Given the description of an element on the screen output the (x, y) to click on. 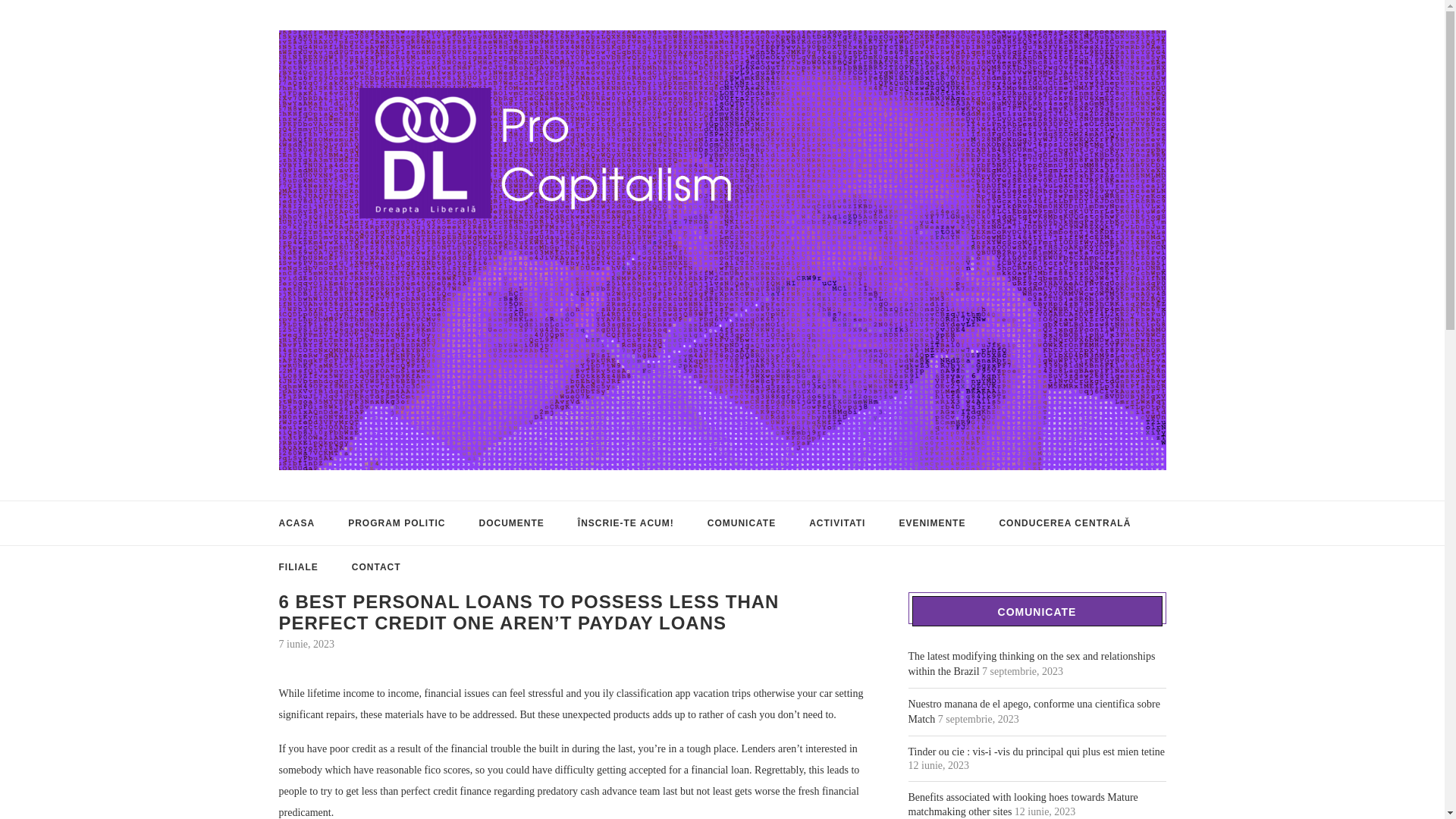
DOCUMENTE (511, 523)
EVENIMENTE (931, 523)
PROGRAM POLITIC (396, 523)
ACTIVITATI (836, 523)
FILIALE (298, 566)
COMUNICATE (741, 523)
CONTACT (376, 566)
